Given the description of an element on the screen output the (x, y) to click on. 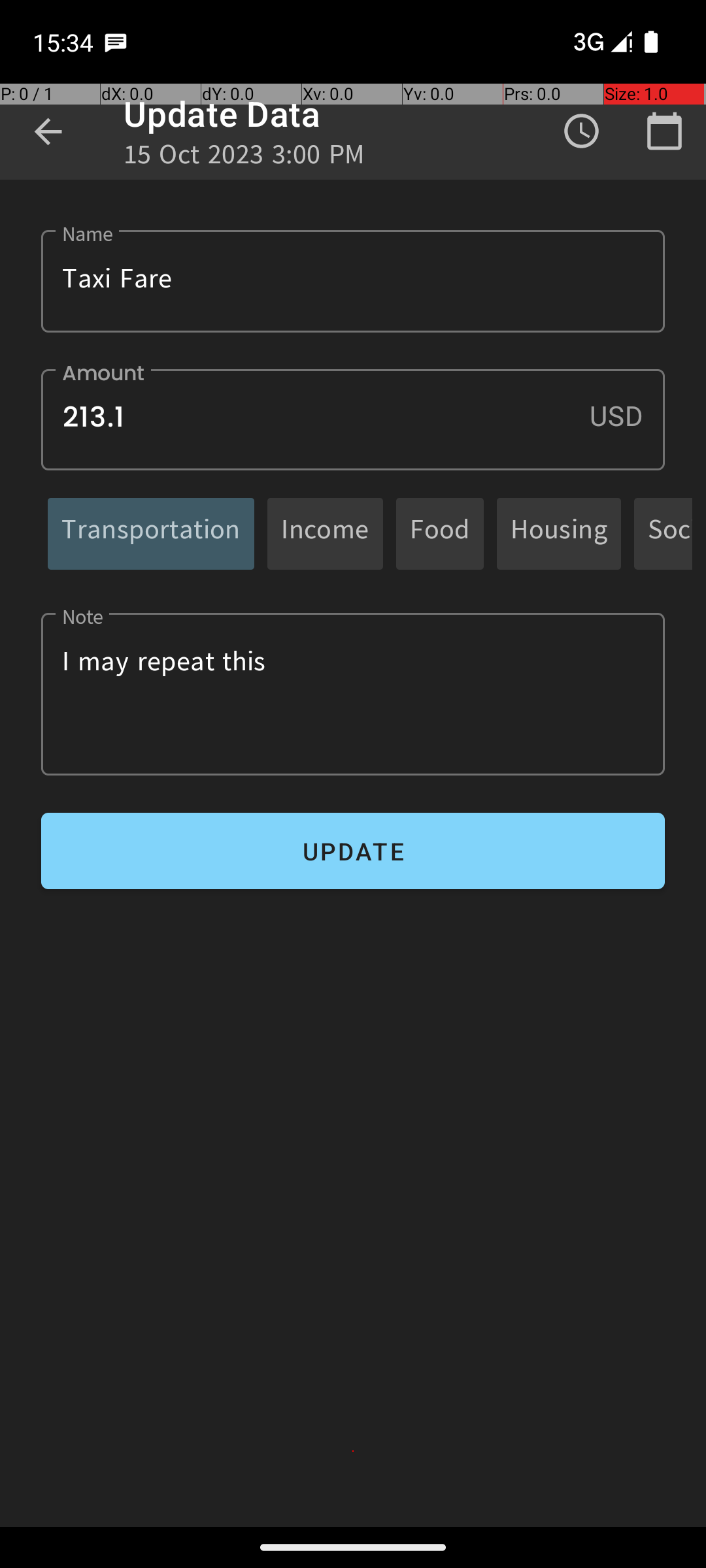
15 Oct 2023 3:00 PM Element type: android.widget.TextView (244, 157)
Taxi Fare Element type: android.widget.EditText (352, 280)
213.1 Element type: android.widget.EditText (352, 419)
Transportation Element type: android.widget.TextView (150, 533)
